Given the description of an element on the screen output the (x, y) to click on. 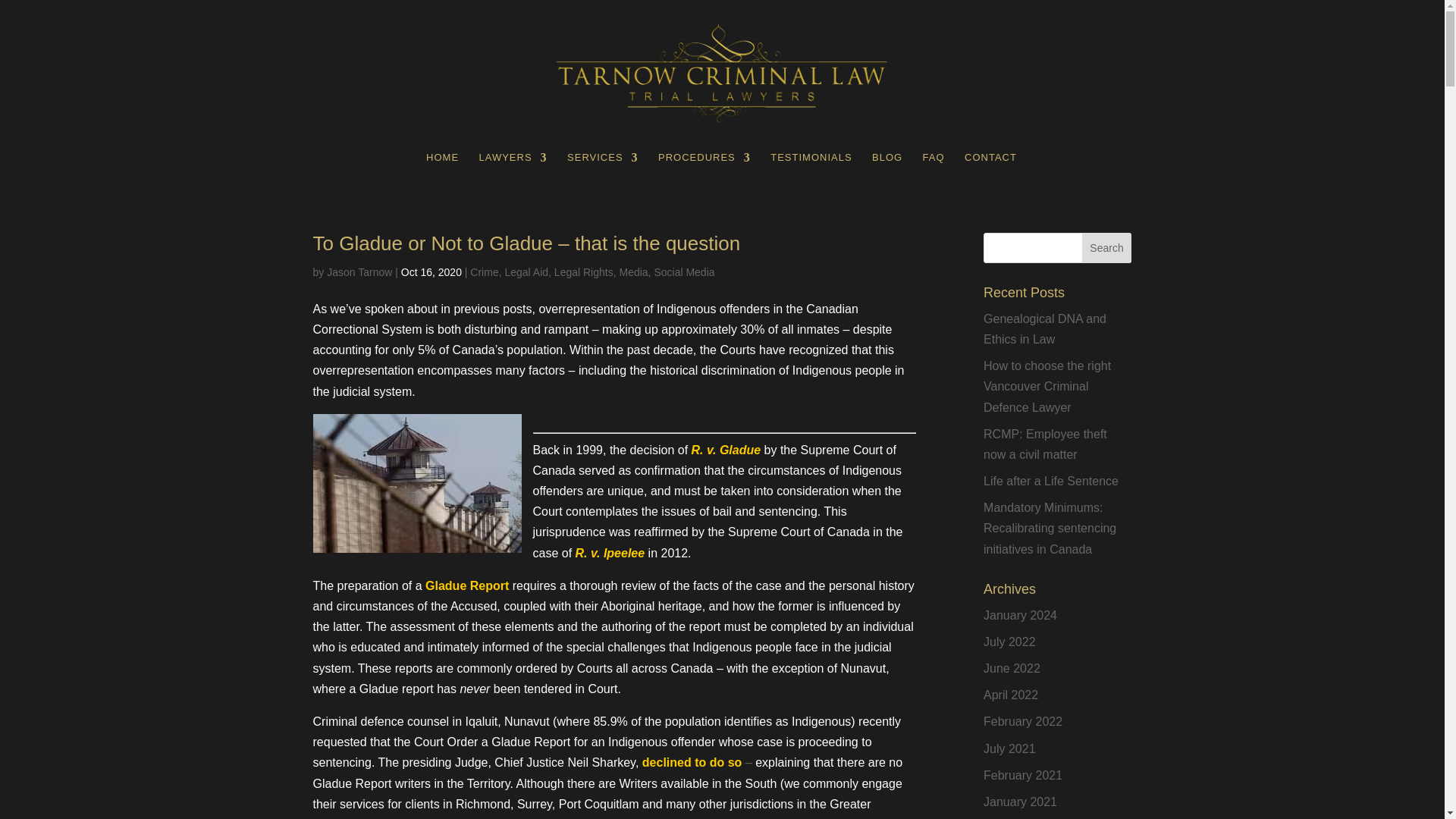
PROCEDURES (704, 170)
Posts by Jason Tarnow (358, 272)
Search (1106, 247)
SERVICES (603, 170)
LAWYERS (513, 170)
TESTIMONIALS (810, 170)
CONTACT (989, 170)
